Given the description of an element on the screen output the (x, y) to click on. 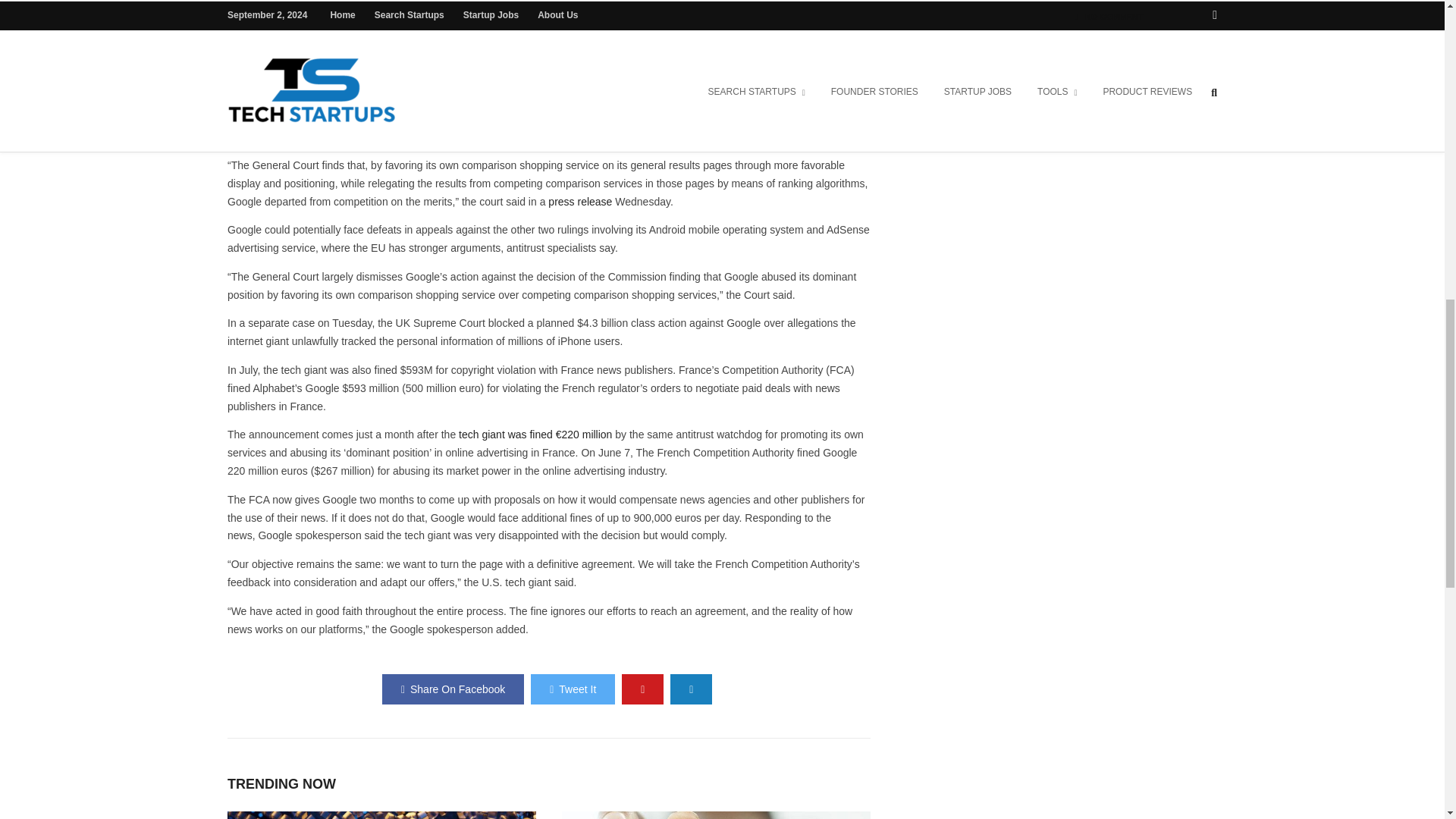
Tweet It (572, 689)
press release (579, 201)
Share by Email (690, 689)
Share On Facebook (452, 689)
Share On Pinterest (642, 689)
Share On Facebook (452, 689)
Share On Twitter (572, 689)
